Given the description of an element on the screen output the (x, y) to click on. 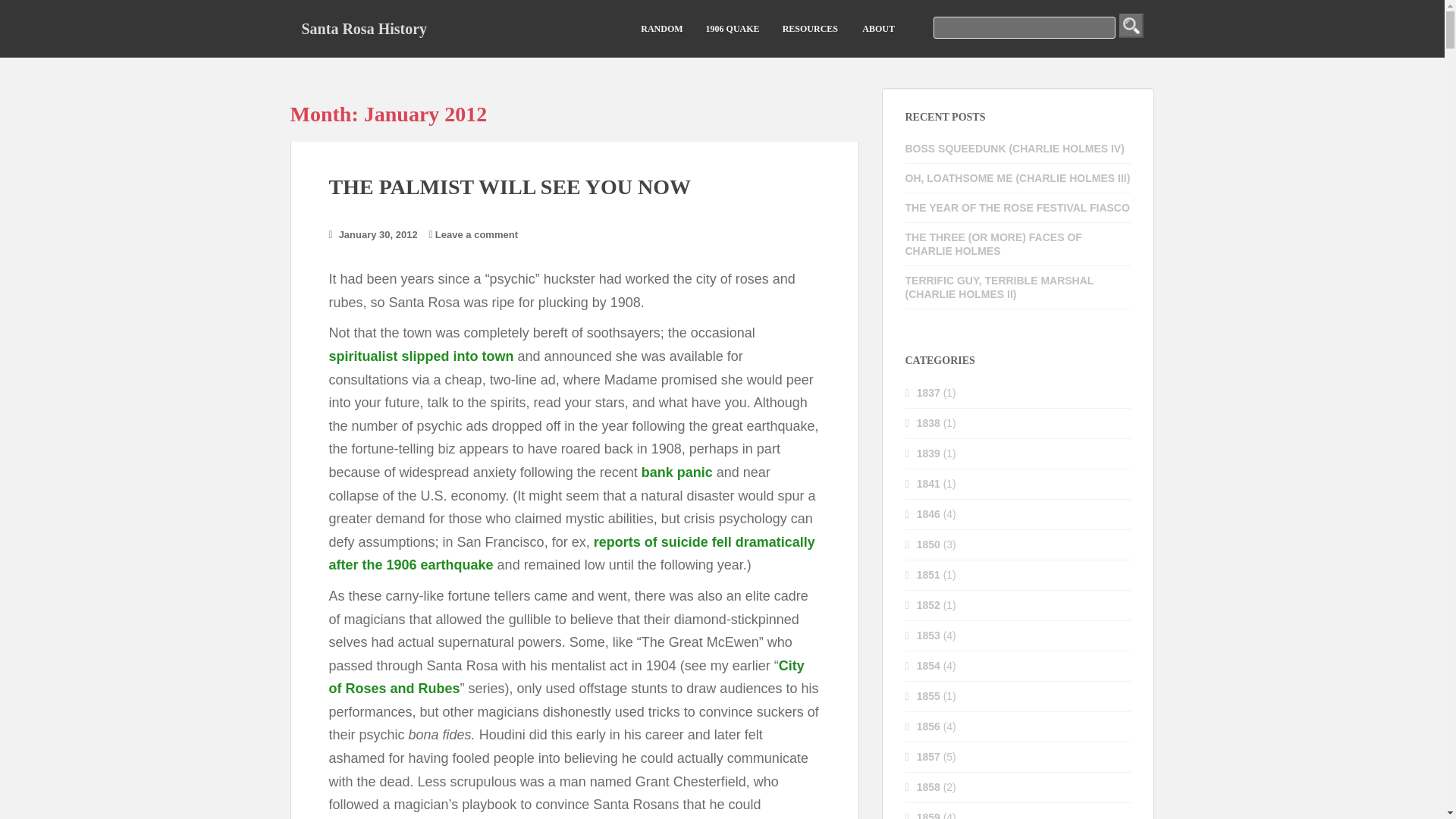
City of Roses and Rubes (567, 677)
THE PALMIST WILL SEE YOU NOW (509, 187)
Search (1130, 25)
Santa Rosa History (363, 28)
January 30, 2012 (378, 234)
1906 QUAKE (732, 28)
RANDOM (661, 28)
Search (1130, 25)
spiritualist slipped into town (421, 355)
